Given the description of an element on the screen output the (x, y) to click on. 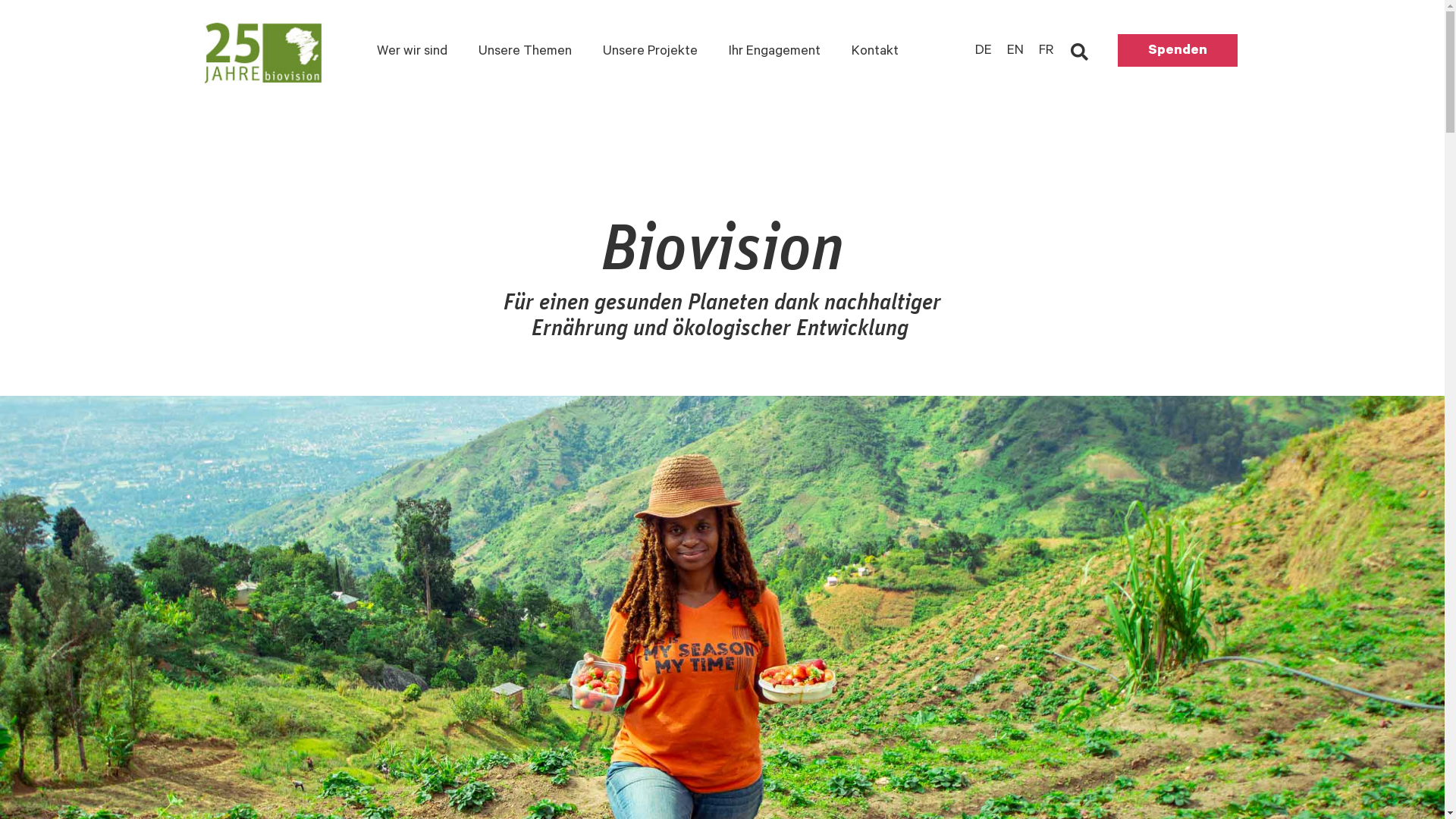
Unsere Themen Element type: text (524, 52)
FR Element type: text (1046, 52)
Wer wir sind Element type: text (411, 52)
EN Element type: text (1015, 52)
Kontakt Element type: text (874, 52)
Spenden Element type: text (1177, 50)
Unsere Projekte Element type: text (649, 52)
DE Element type: text (983, 52)
Ihr Engagement Element type: text (774, 52)
